Given the description of an element on the screen output the (x, y) to click on. 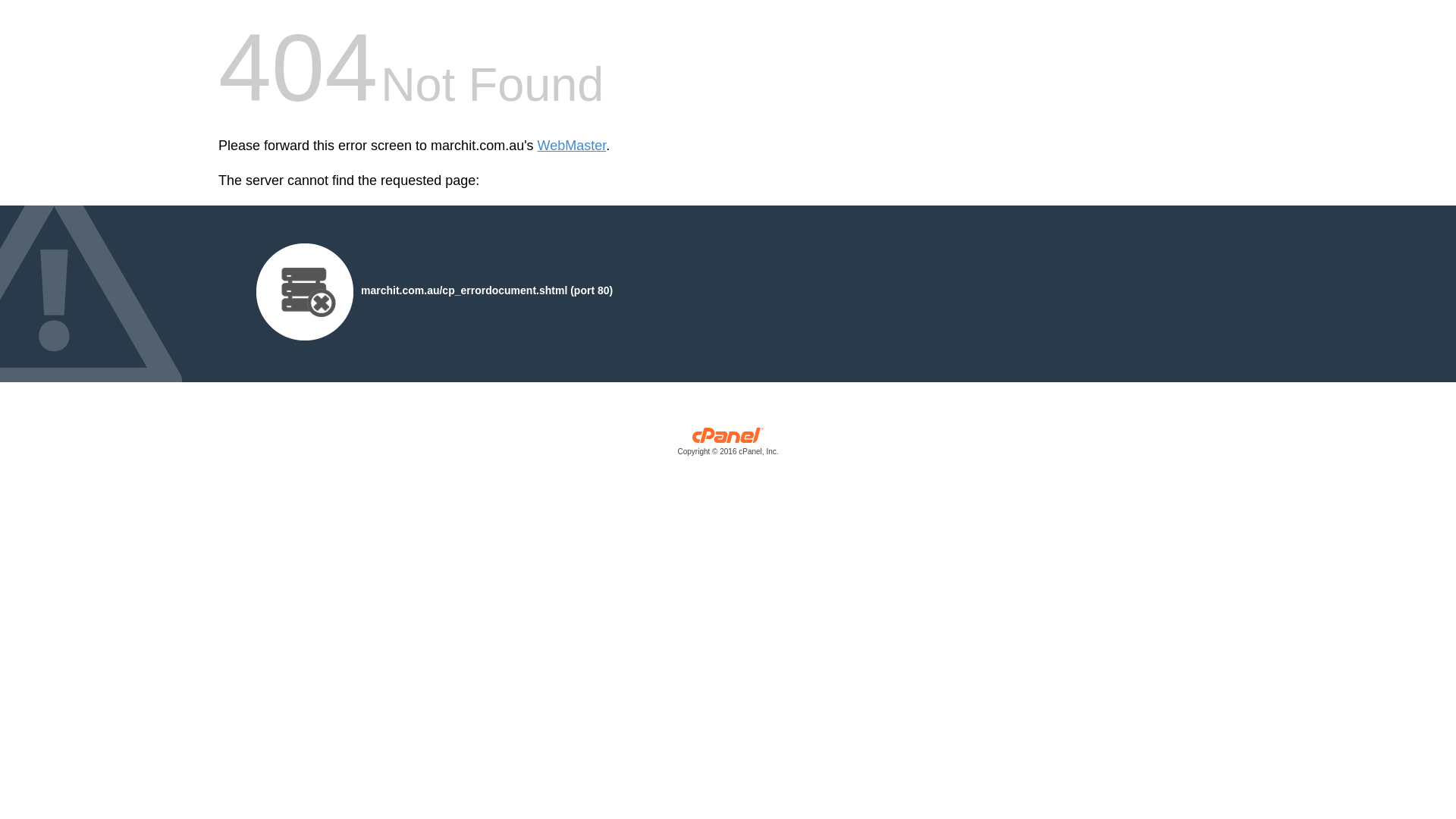
WebMaster Element type: text (571, 145)
